Given the description of an element on the screen output the (x, y) to click on. 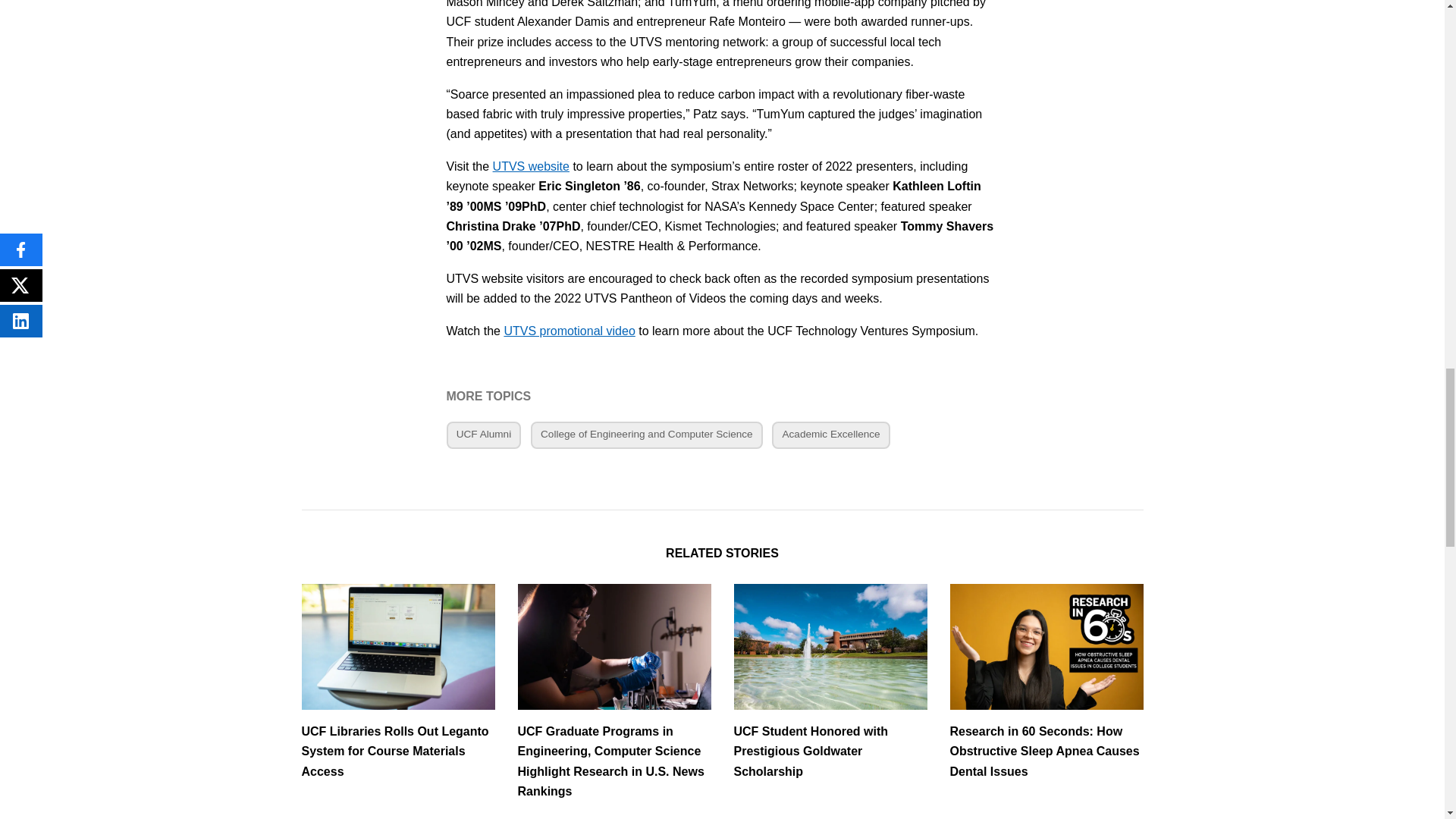
UTVS promotional video (568, 330)
UTVS website (531, 165)
College of Engineering and Computer Science (646, 434)
Academic Excellence (830, 434)
UCF Student Honored with Prestigious Goldwater Scholarship (830, 682)
UCF Alumni (483, 434)
